Given the description of an element on the screen output the (x, y) to click on. 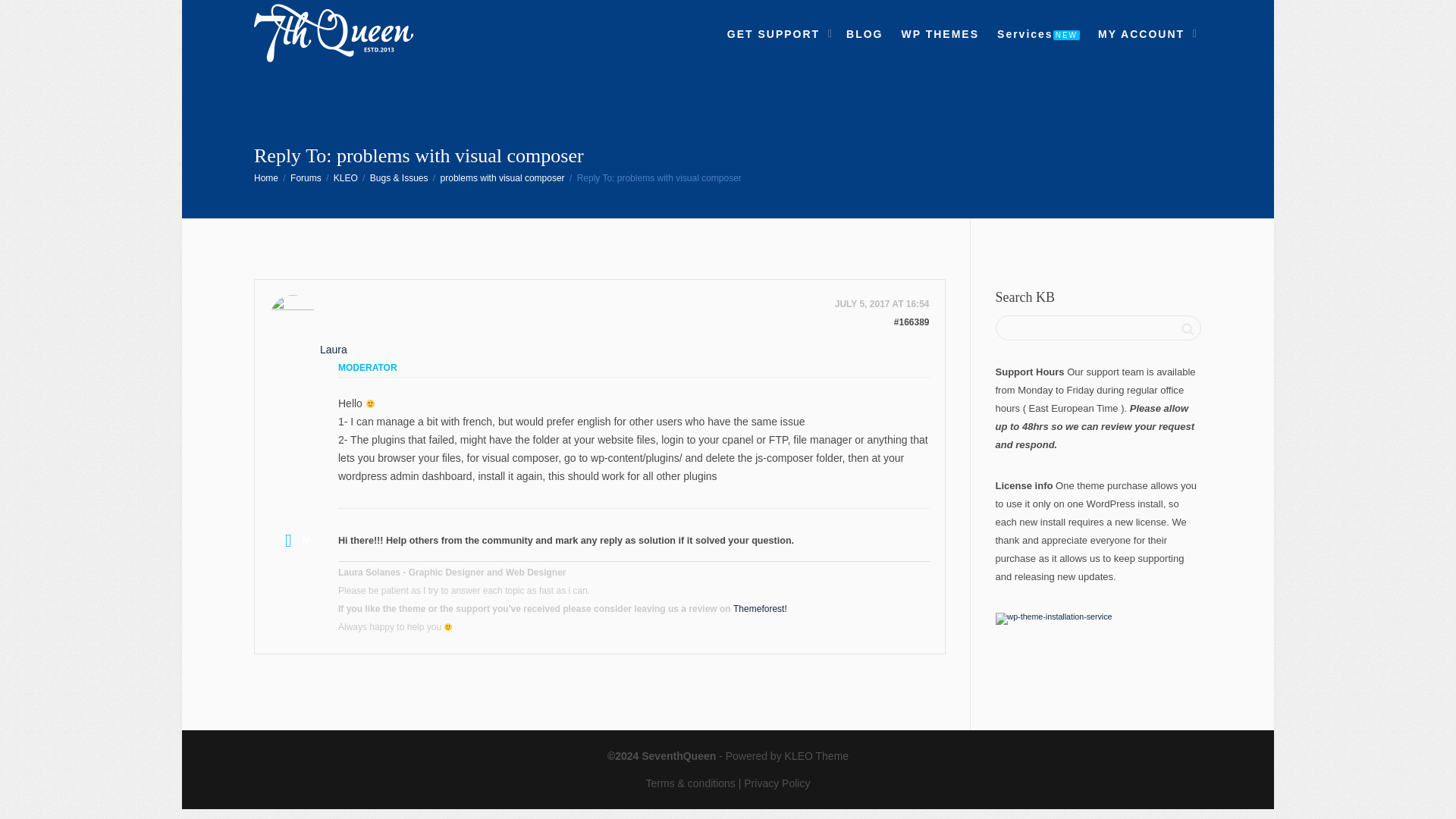
WP THEMES (940, 33)
KLEO (345, 177)
MY ACCOUNT (1144, 33)
SeventhQueen Archived Support (265, 177)
ServicesNEW (1038, 33)
Search (1186, 329)
Themeforest! (760, 608)
Powered by KLEO Theme (786, 756)
Mark as a solution (293, 540)
Home (265, 177)
